Given the description of an element on the screen output the (x, y) to click on. 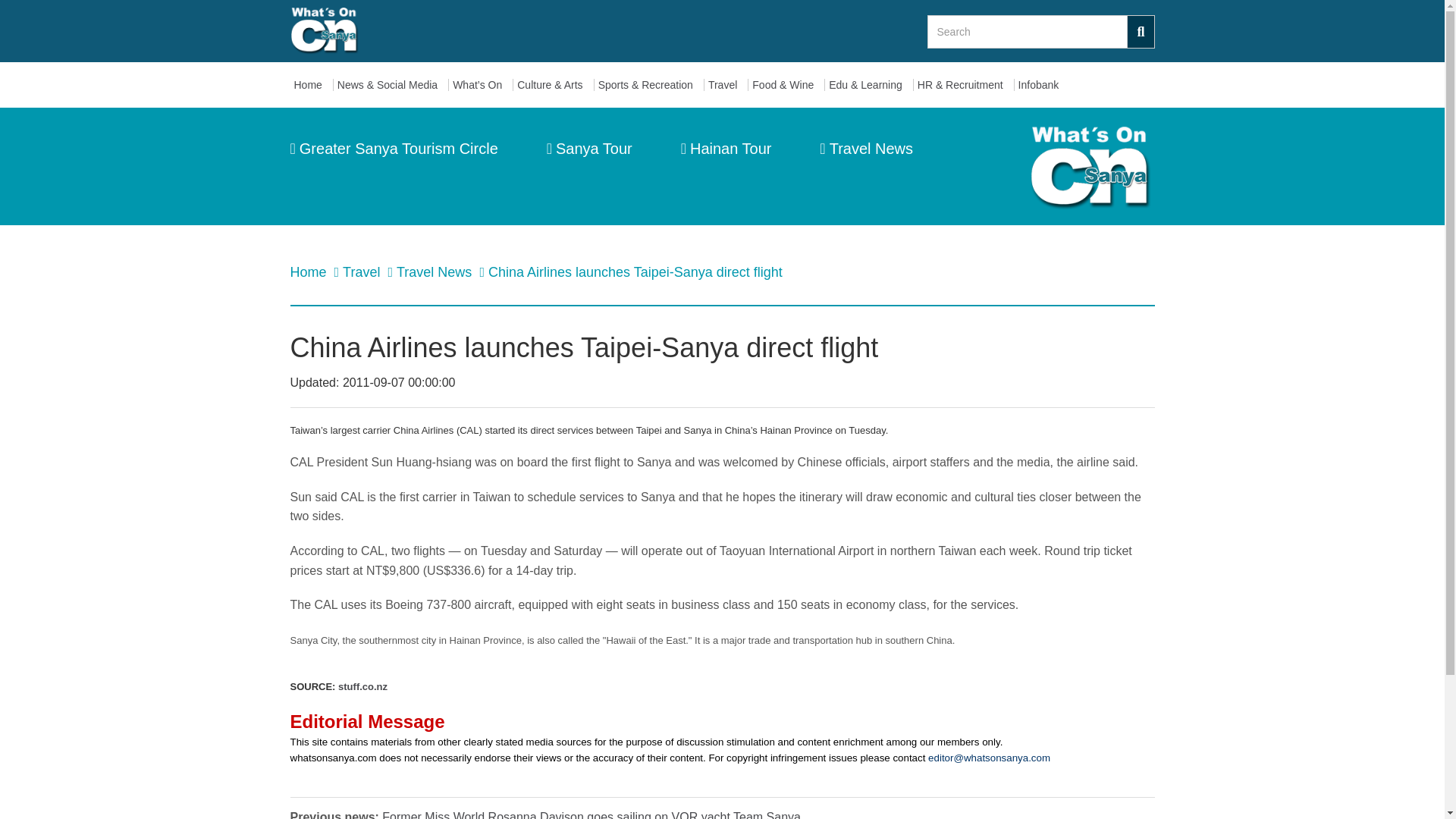
Infobank (1042, 84)
Hainan Tour (726, 148)
Travel (726, 84)
stuff.co.nz (362, 686)
Travel (363, 272)
Greater Sanya Tourism Circle (393, 148)
Sanya Tour (589, 148)
Travel News (865, 148)
Travel News (436, 272)
